Given the description of an element on the screen output the (x, y) to click on. 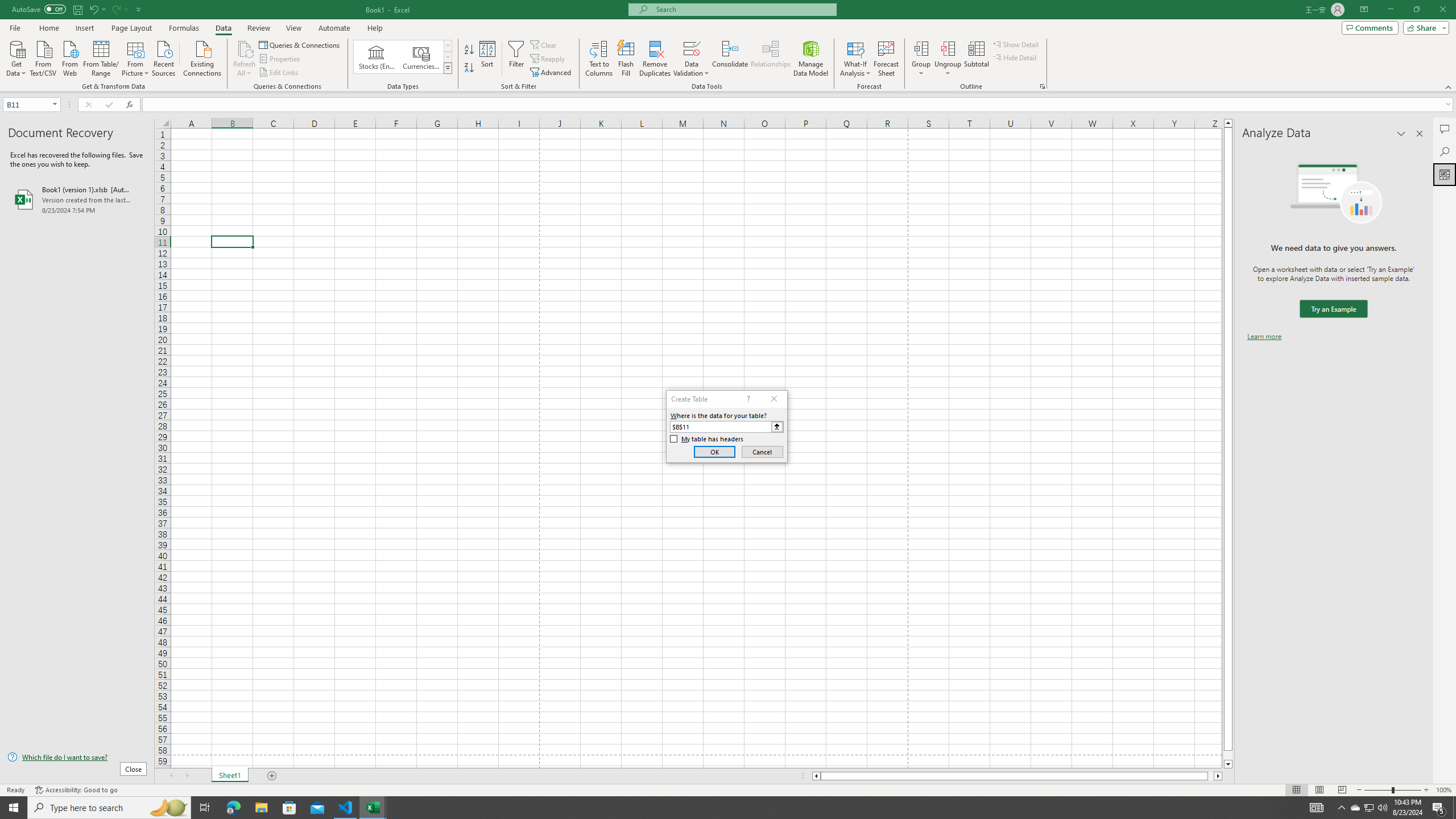
Consolidate... (729, 58)
Currencies (English) (420, 56)
